Given the description of an element on the screen output the (x, y) to click on. 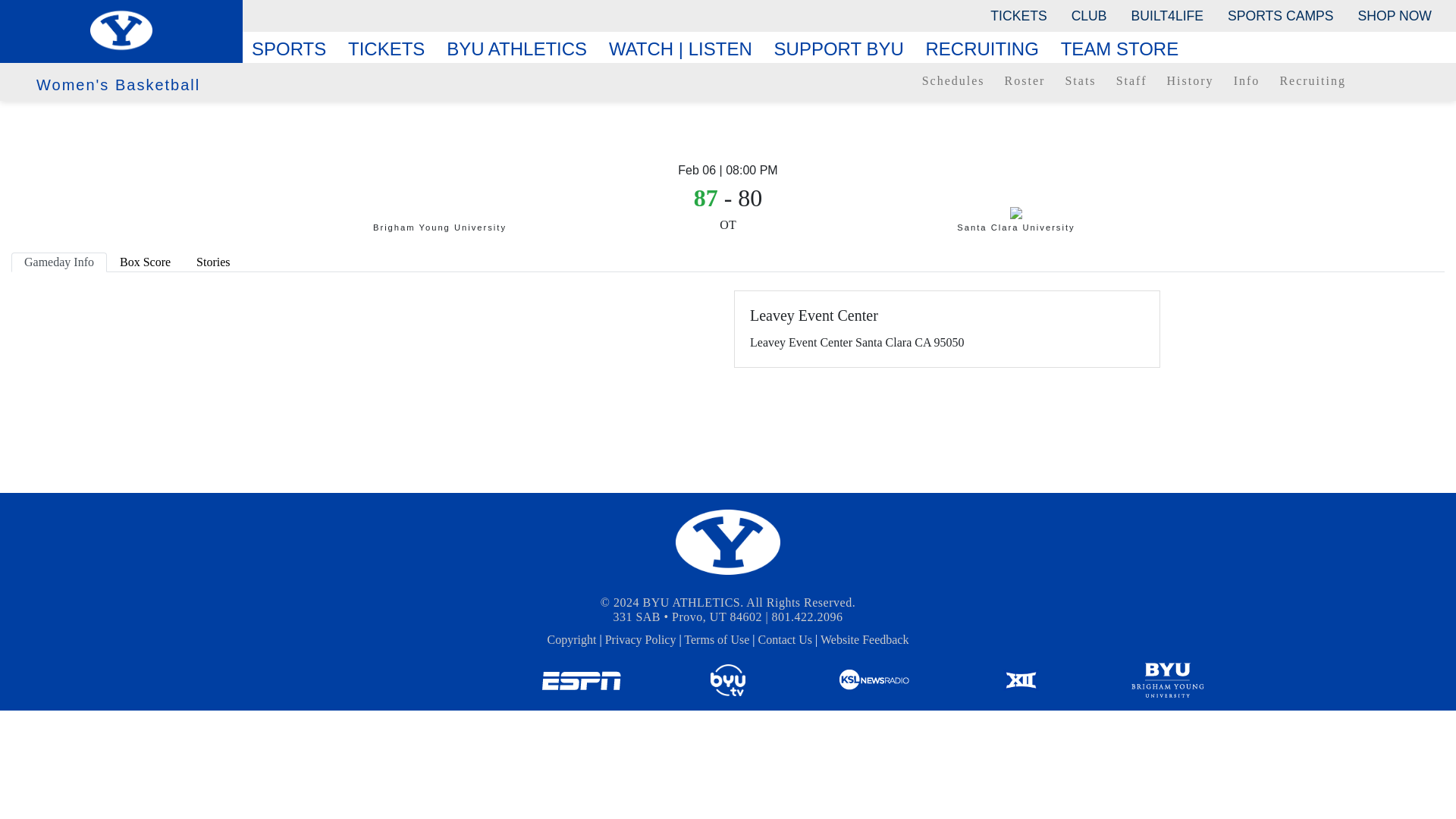
SPORTS (294, 49)
SPORTS CAMPS (1280, 15)
TICKETS (1018, 15)
SHOP NOW (1394, 15)
CLUB (1089, 15)
BUILT4LIFE (1167, 15)
